Given the description of an element on the screen output the (x, y) to click on. 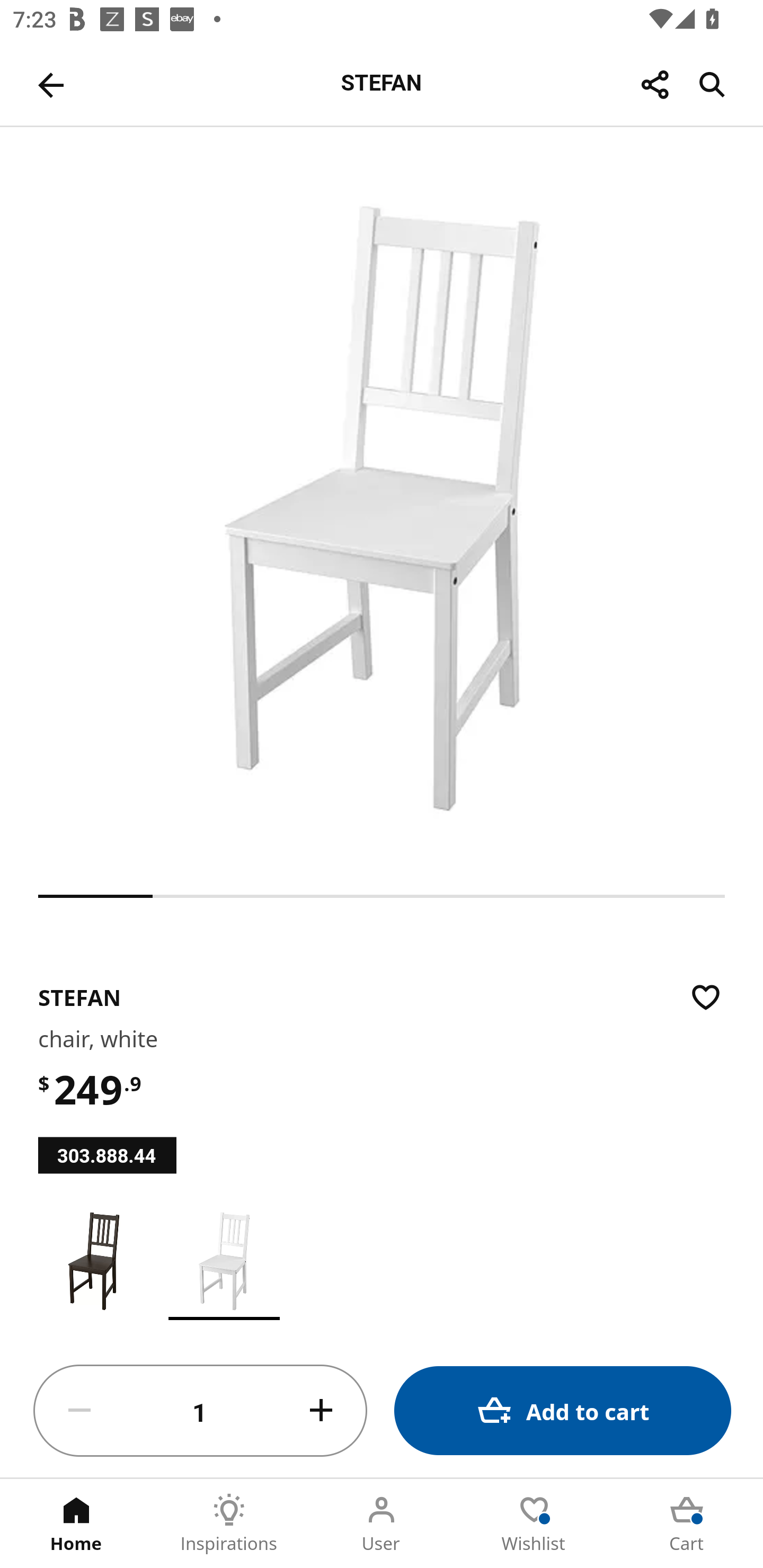
Add to cart (562, 1410)
1 (200, 1411)
Home
Tab 1 of 5 (76, 1522)
Inspirations
Tab 2 of 5 (228, 1522)
User
Tab 3 of 5 (381, 1522)
Wishlist
Tab 4 of 5 (533, 1522)
Cart
Tab 5 of 5 (686, 1522)
